Given the description of an element on the screen output the (x, y) to click on. 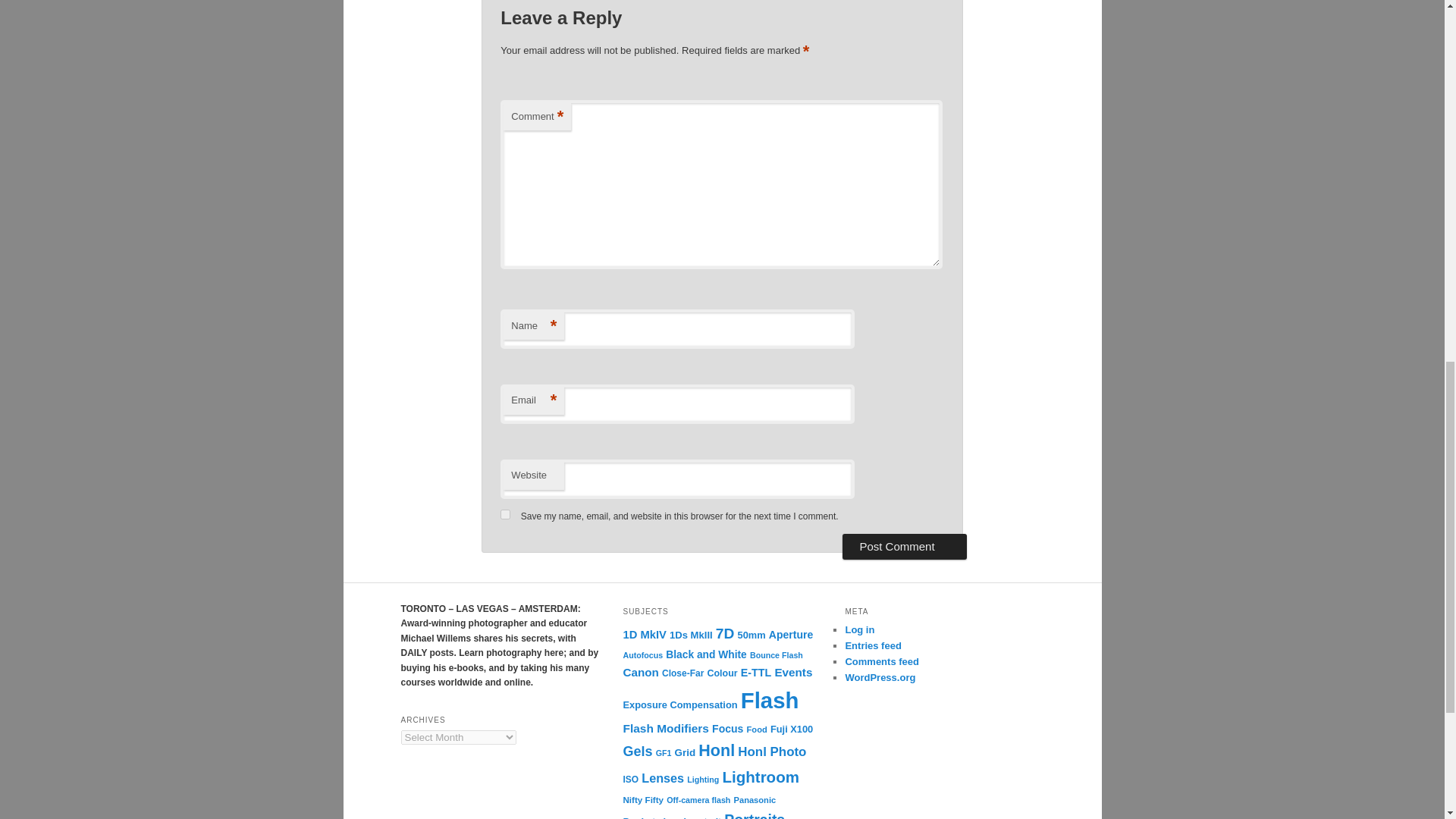
1Ds MkIII (691, 634)
Autofocus (642, 655)
Black and White (705, 654)
yes (505, 514)
Aperture (790, 634)
Post Comment (904, 546)
Canon (640, 671)
1D MkIV (644, 634)
50mm (751, 634)
Bounce Flash (776, 655)
7D (725, 633)
Post Comment (904, 546)
